Given the description of an element on the screen output the (x, y) to click on. 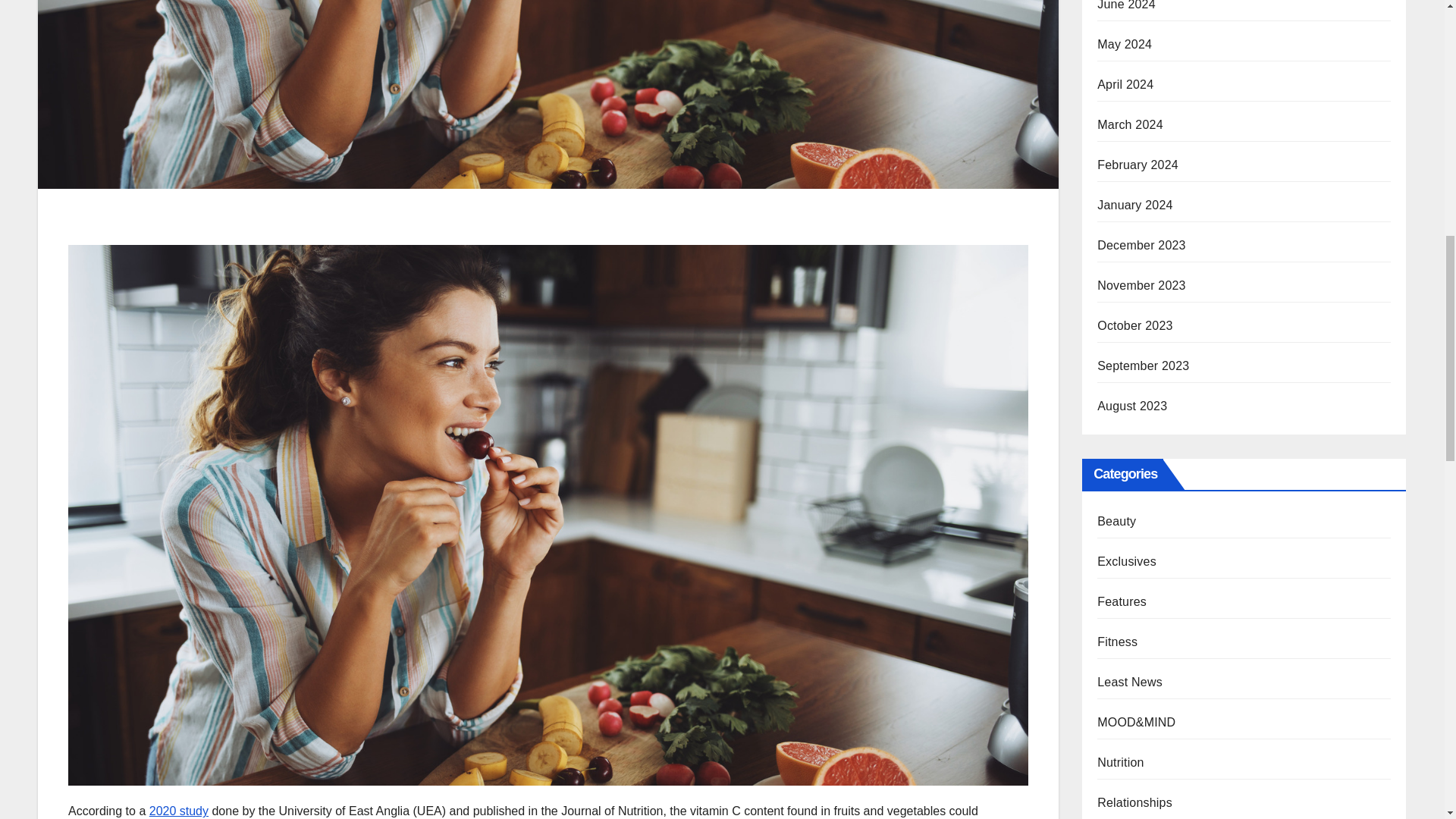
2020 study (178, 810)
